Given the description of an element on the screen output the (x, y) to click on. 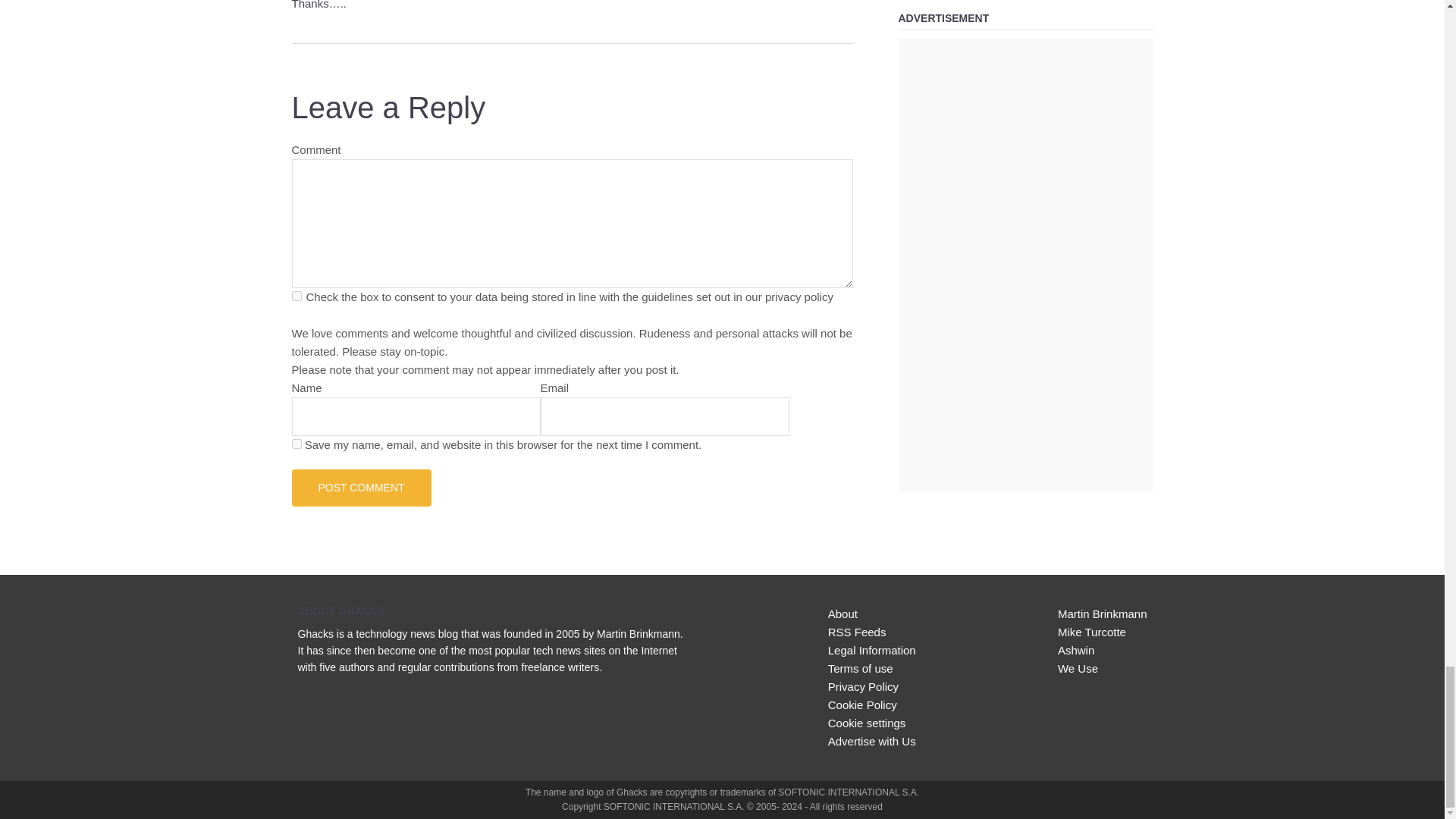
privacy-key (296, 296)
yes (296, 443)
Post Comment (360, 487)
